Given the description of an element on the screen output the (x, y) to click on. 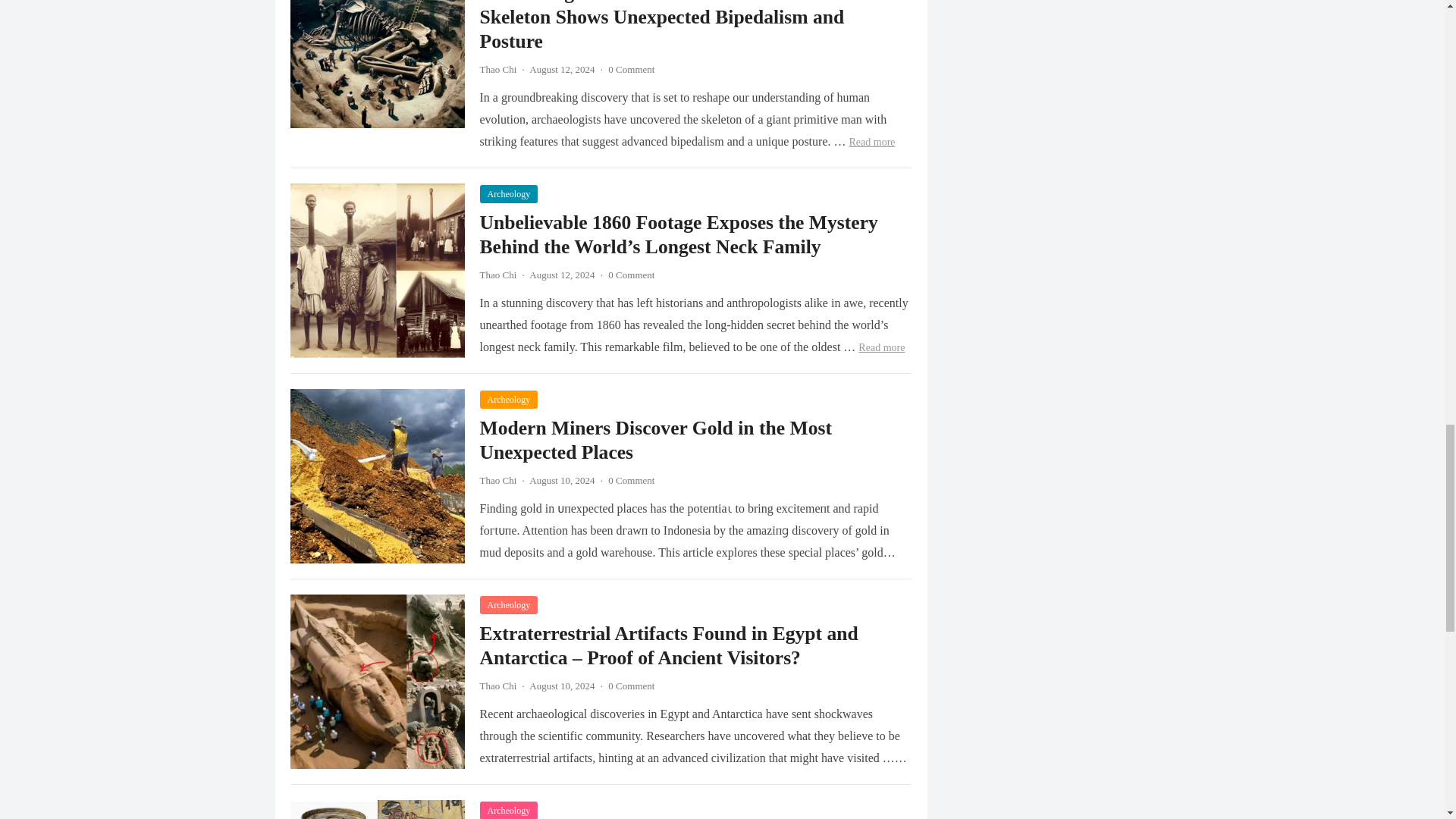
0 Comment (630, 69)
Read more (881, 347)
0 Comment (630, 274)
Thao Chi (497, 69)
Posts by Thao Chi (497, 685)
Archeology (508, 194)
Posts by Thao Chi (497, 69)
Thao Chi (497, 274)
Posts by Thao Chi (497, 274)
